Given the description of an element on the screen output the (x, y) to click on. 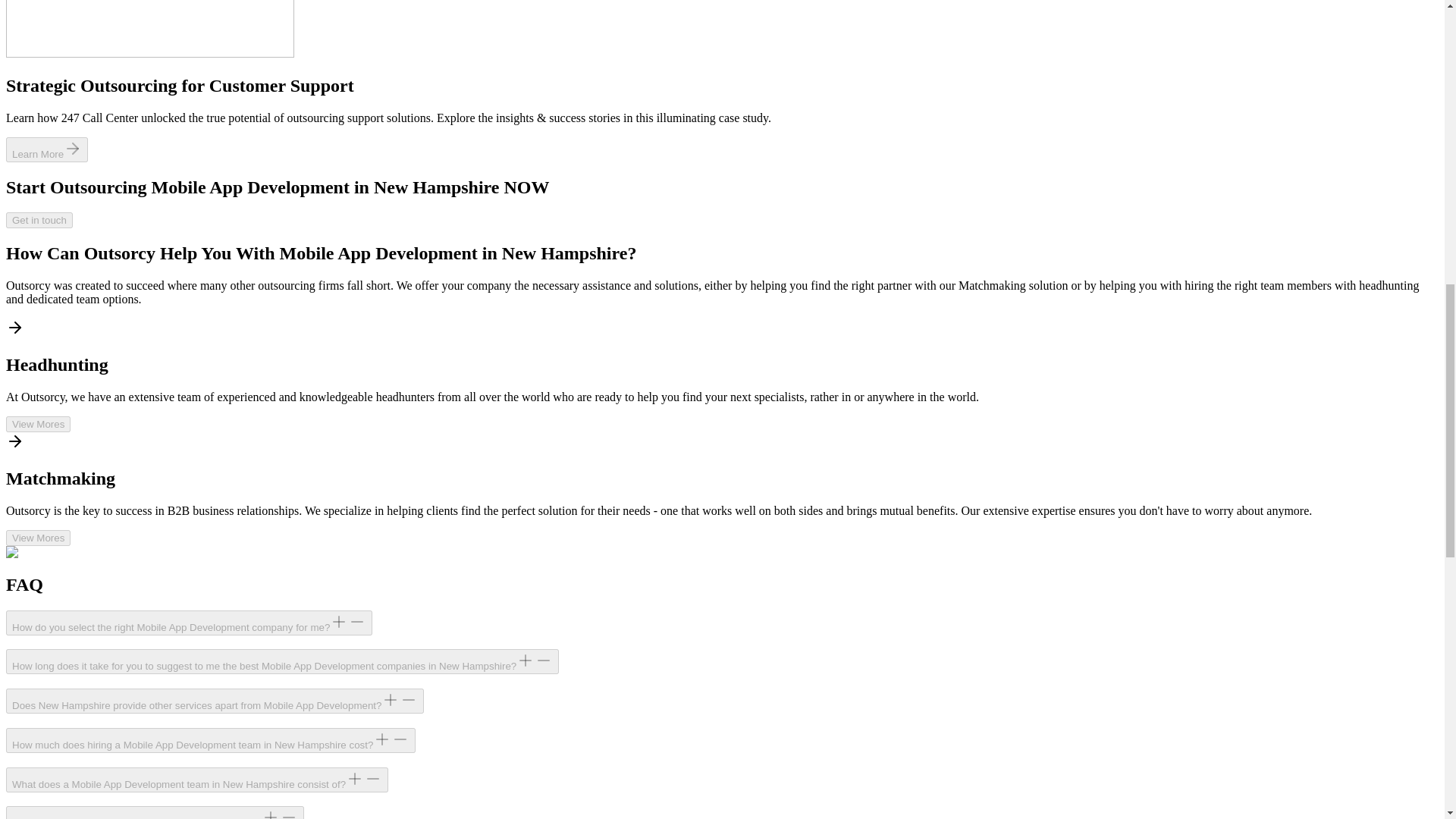
View Mores (37, 537)
View Mores (37, 424)
Learn More (46, 149)
Get in touch (38, 219)
Why should I hire a dedicated team in New Hampshire? (154, 812)
Get in touch (38, 220)
View Mores (37, 422)
View Mores (37, 536)
Learn More (46, 153)
